Given the description of an element on the screen output the (x, y) to click on. 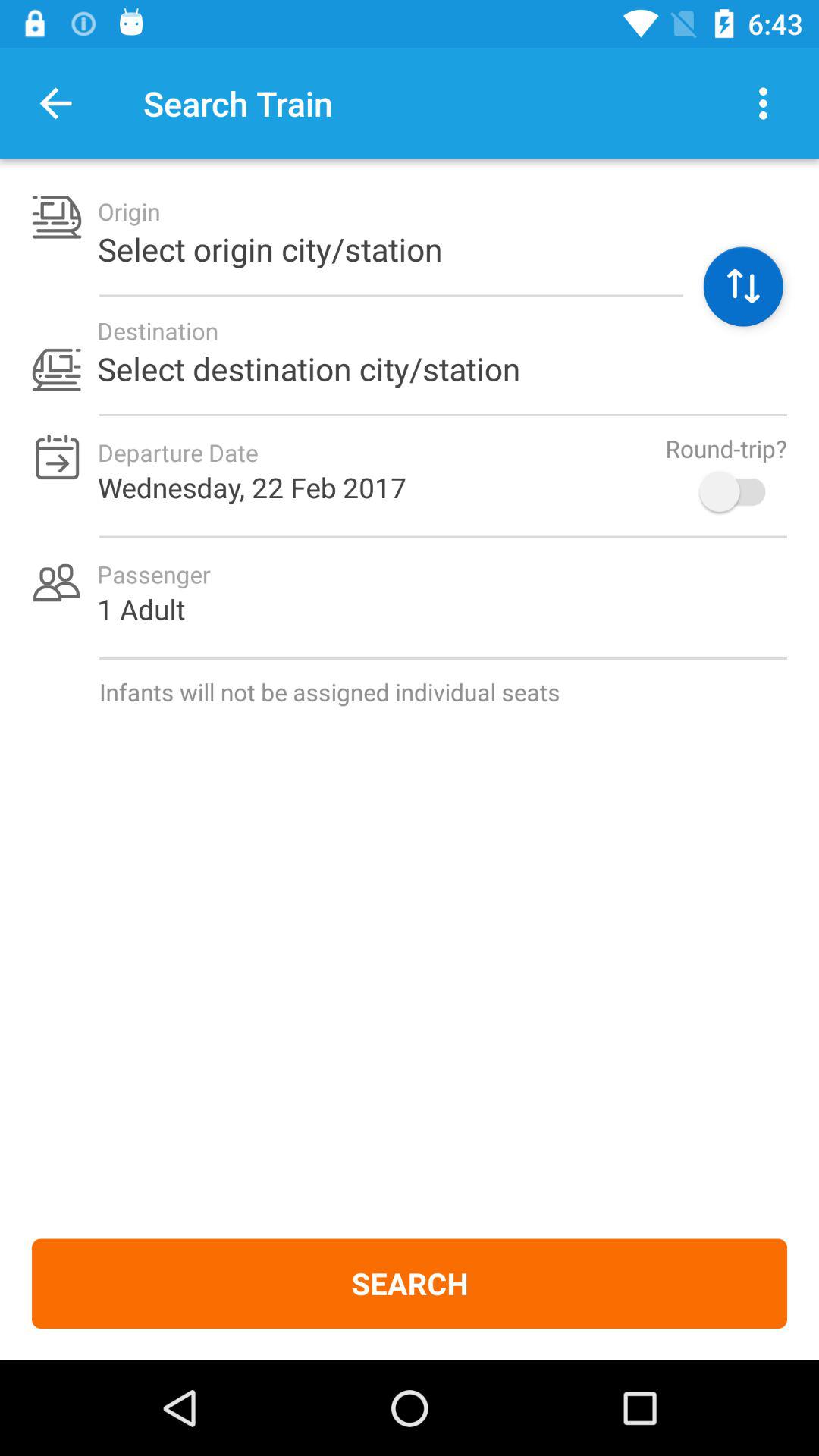
click icon next to search train icon (55, 103)
